Given the description of an element on the screen output the (x, y) to click on. 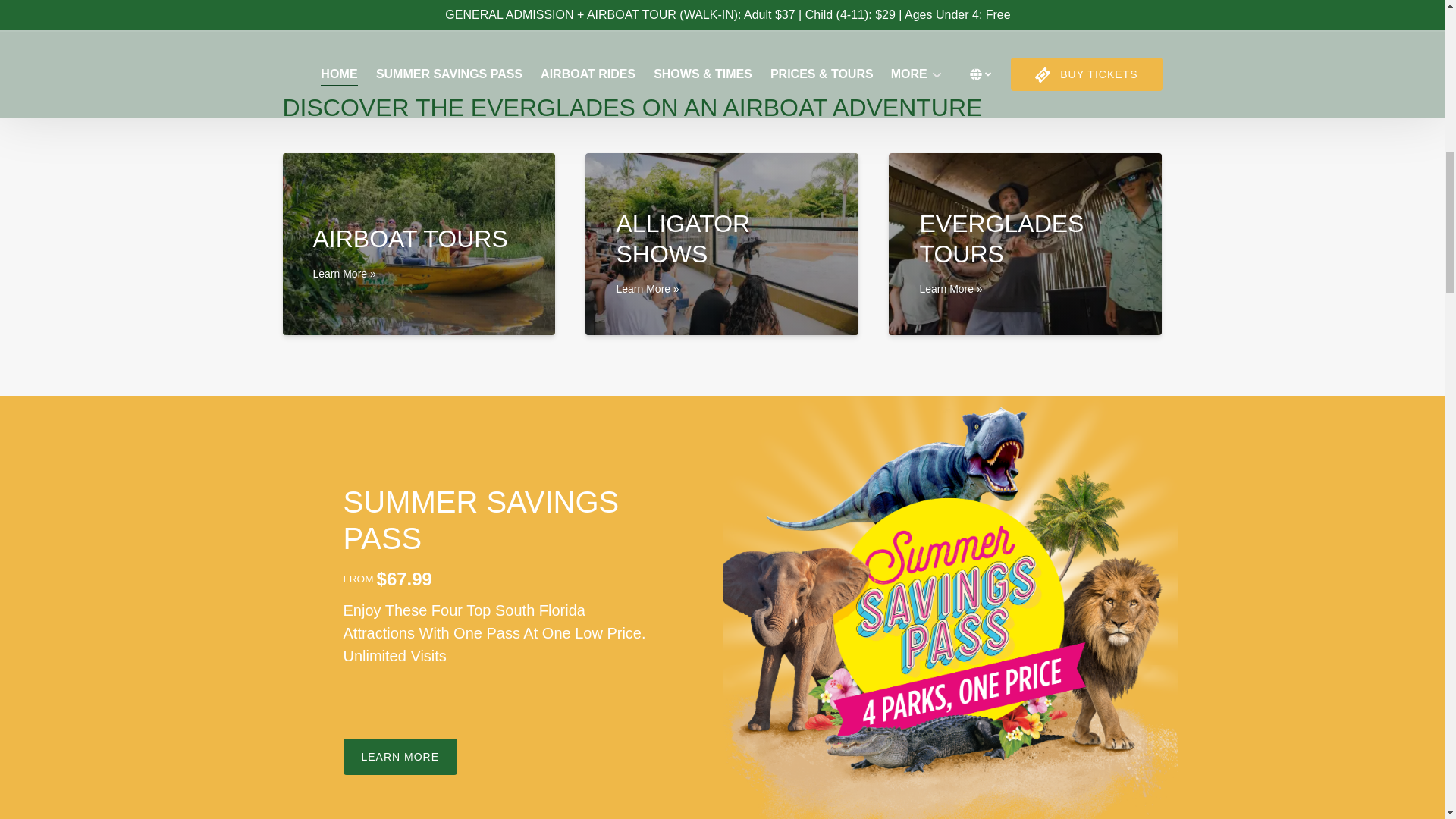
SUMMER SAVINGS PASS (480, 520)
Click here to visit Summer Savings Pass (480, 520)
FareHarbor (1342, 64)
LEARN MORE (399, 747)
